Given the description of an element on the screen output the (x, y) to click on. 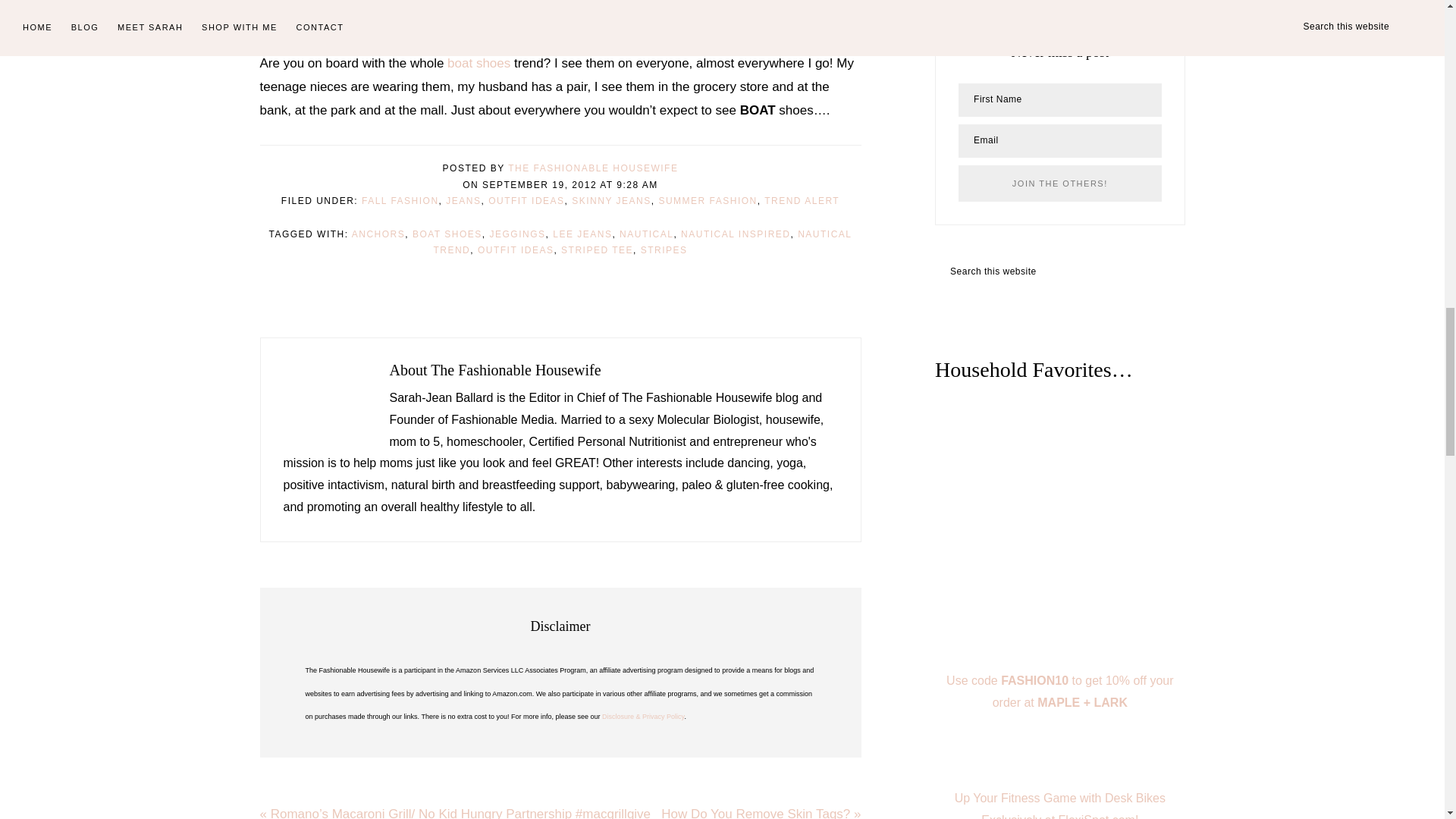
Join the Others! (1059, 183)
